Given the description of an element on the screen output the (x, y) to click on. 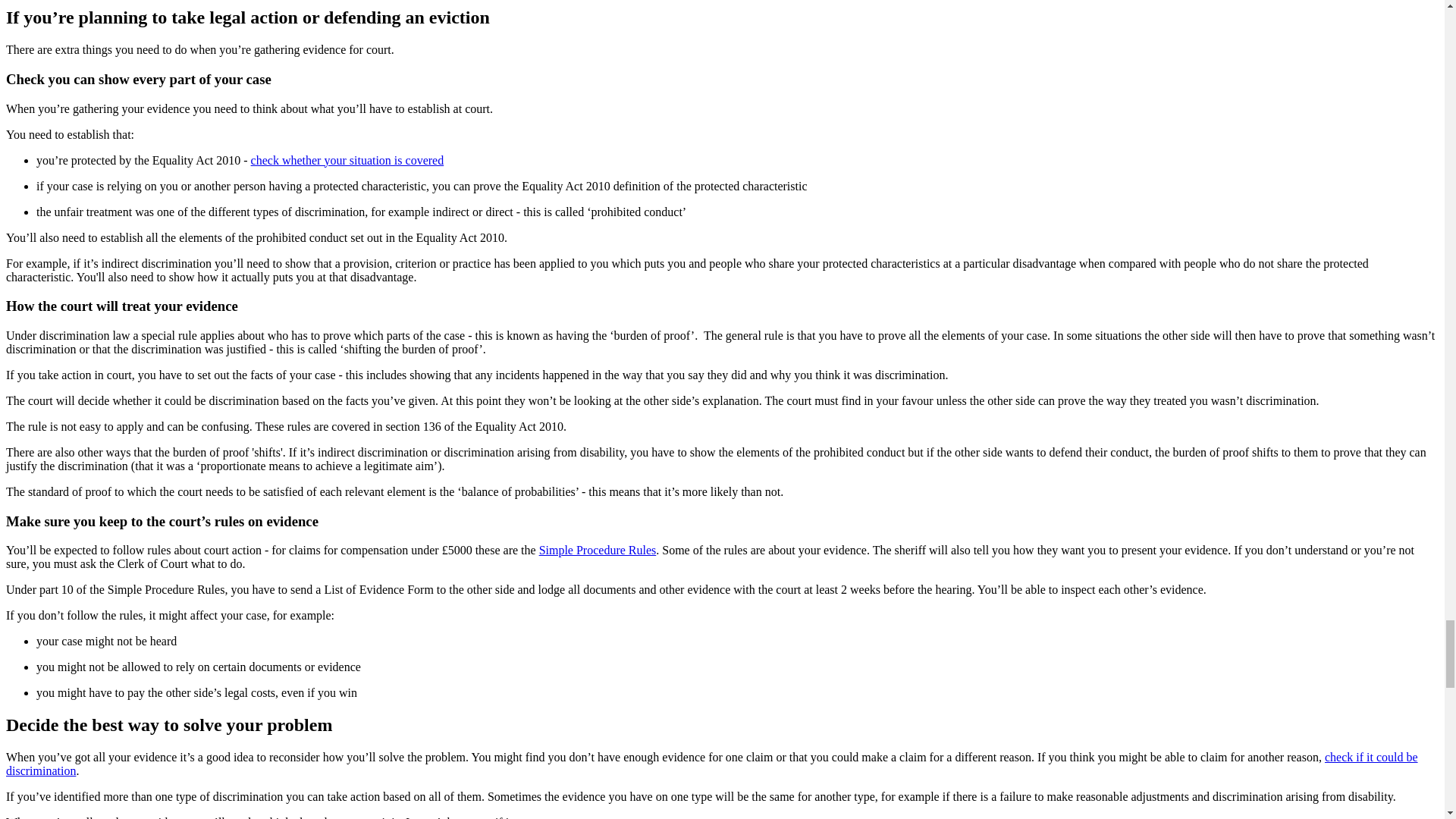
Simple Procedure Rules (597, 549)
check whether your situation is covered (347, 160)
